Given the description of an element on the screen output the (x, y) to click on. 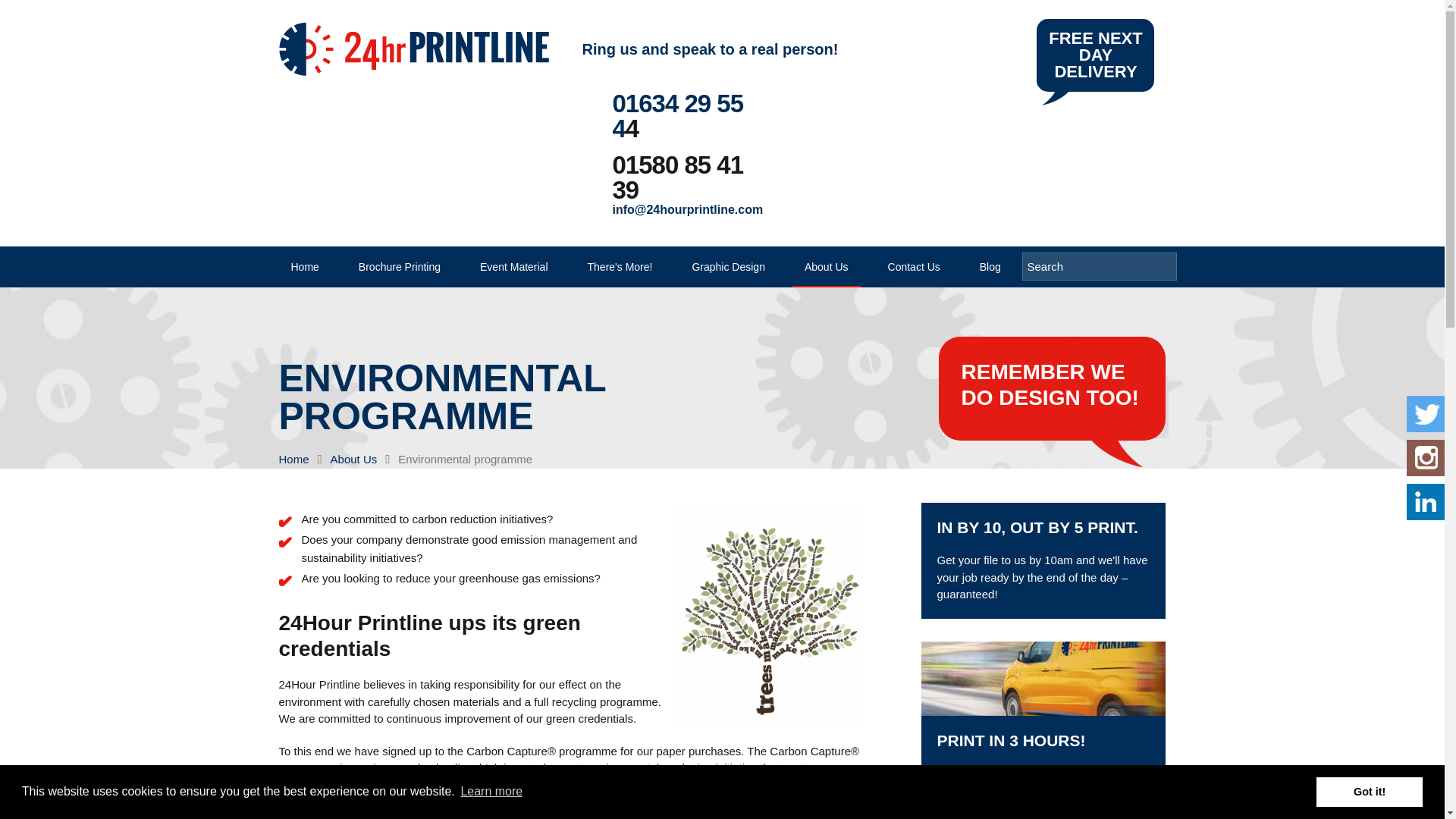
Got it! (1369, 791)
Learn more (491, 791)
